Given the description of an element on the screen output the (x, y) to click on. 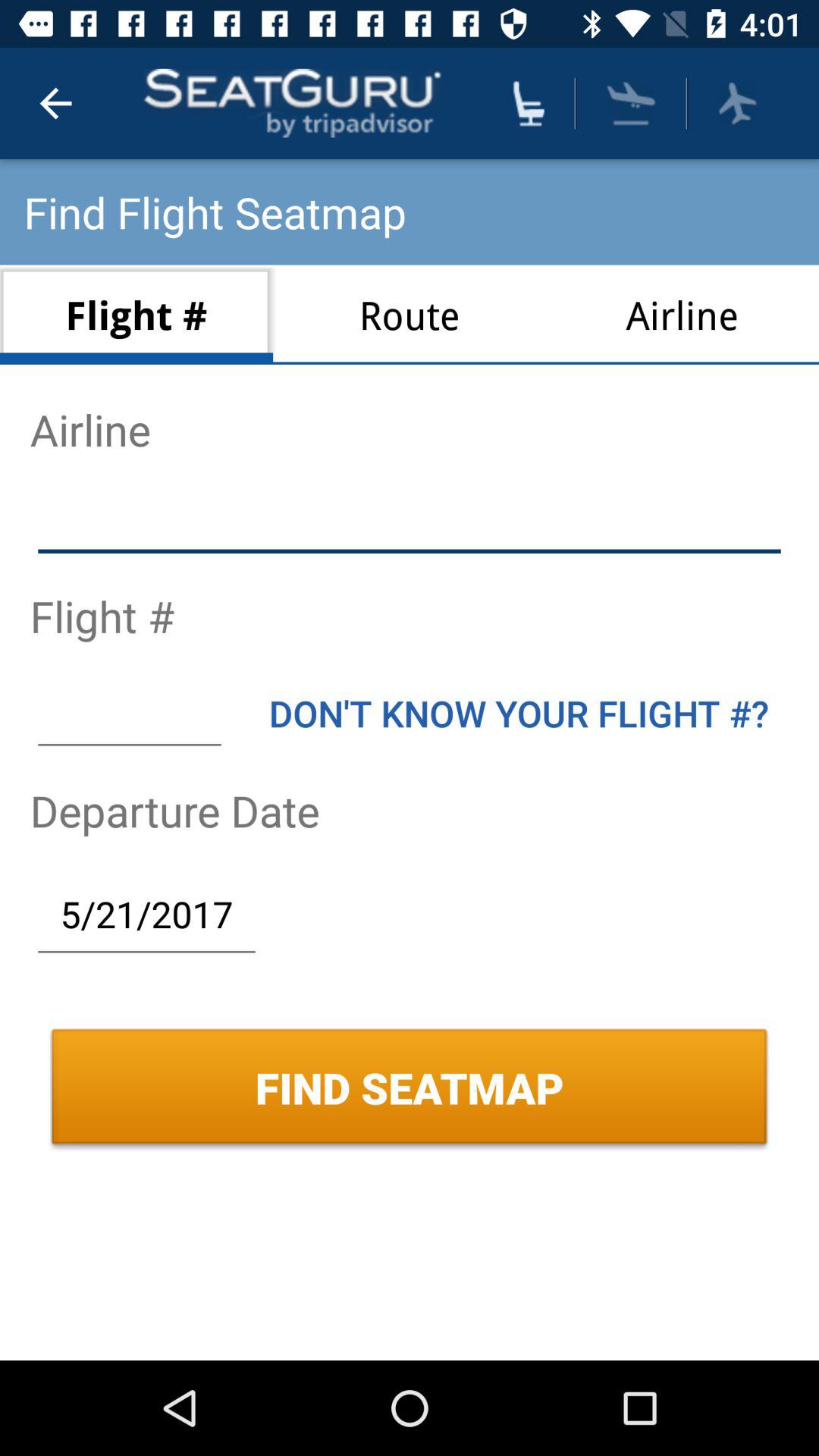
swipe until the don t know (518, 712)
